Given the description of an element on the screen output the (x, y) to click on. 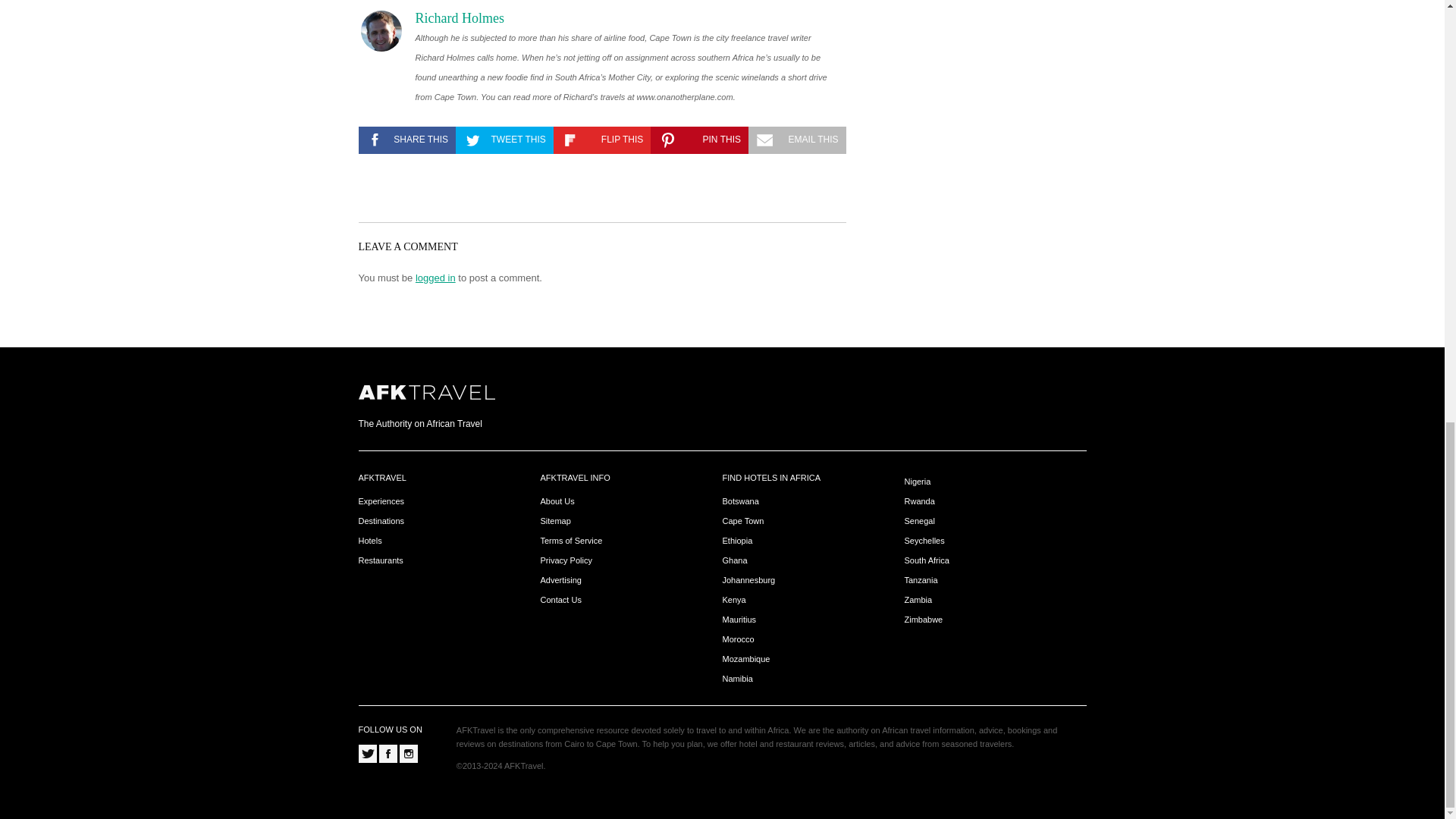
Experiences (381, 501)
Restaurants (380, 560)
logged in (434, 277)
Richard Holmes (458, 17)
Hotels (369, 541)
Destinations (381, 521)
